Given the description of an element on the screen output the (x, y) to click on. 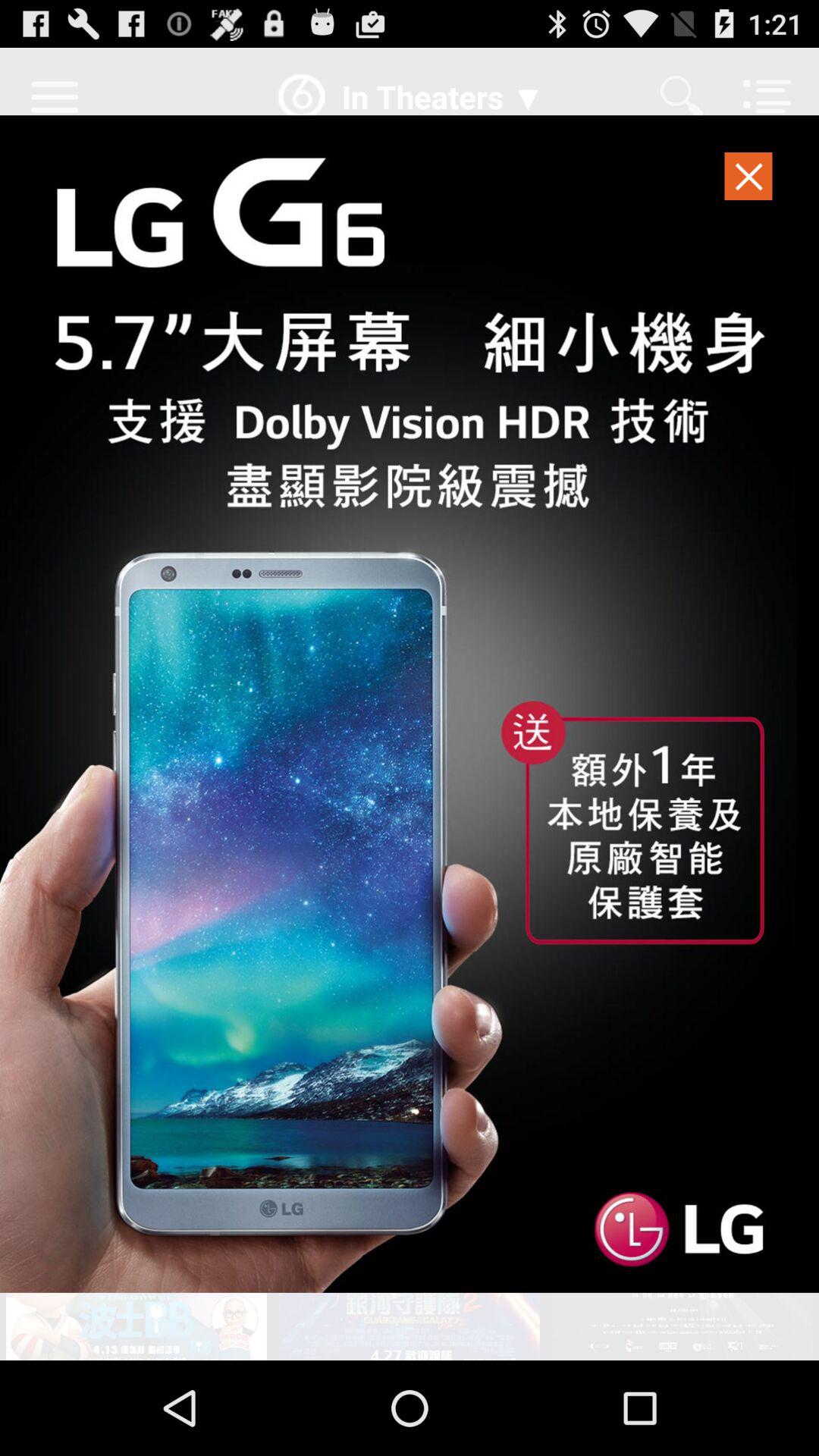
go to close (749, 180)
